Given the description of an element on the screen output the (x, y) to click on. 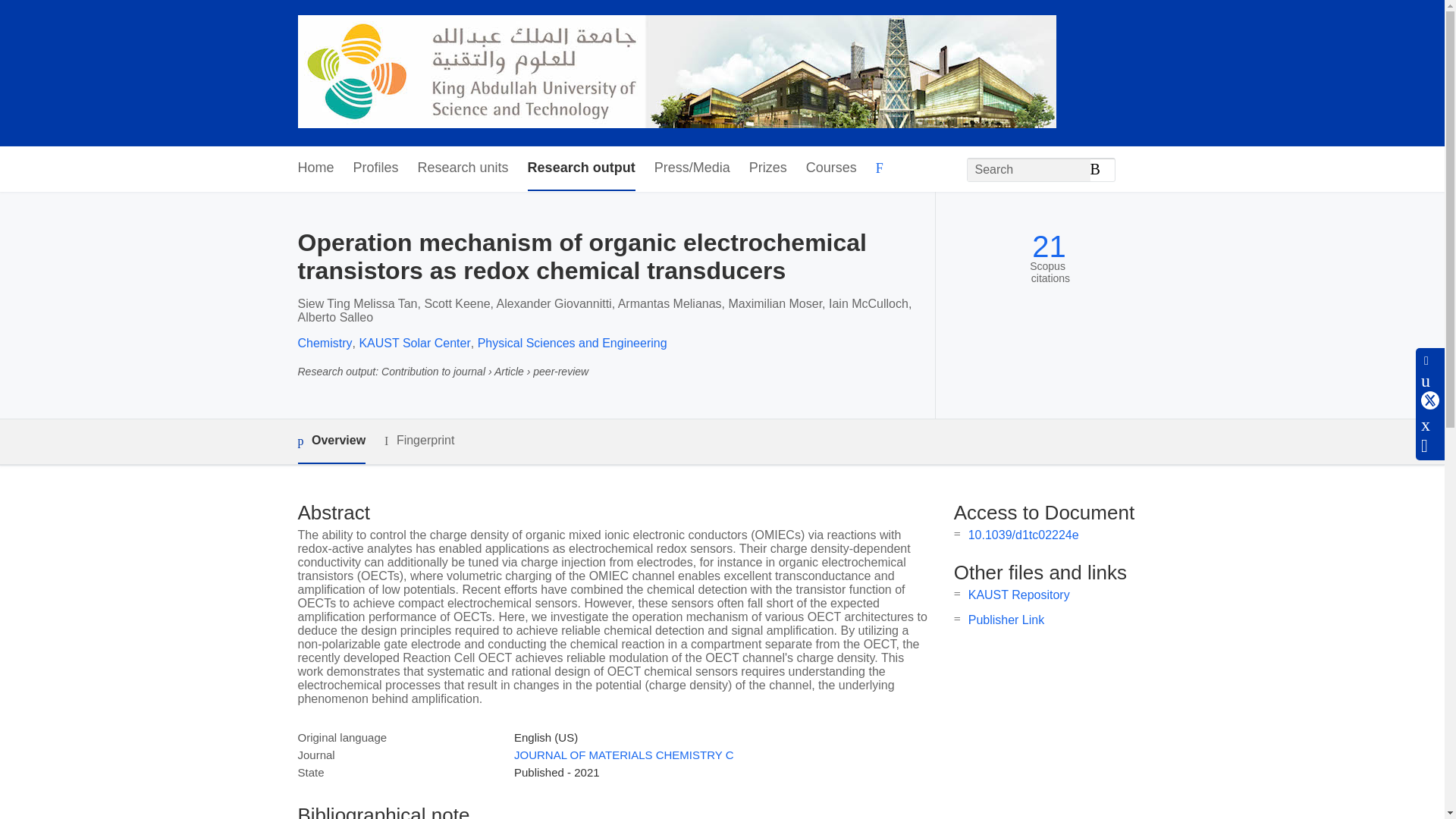
Fingerprint (419, 440)
Research output (580, 168)
21 (1048, 246)
Overview (331, 441)
Courses (831, 168)
Chemistry (324, 342)
Physical Sciences and Engineering (571, 342)
KAUST Solar Center (414, 342)
JOURNAL OF MATERIALS CHEMISTRY C (623, 754)
KAUST PORTAL FOR RESEARCHERS AND STUDENTS Home (676, 73)
Publisher Link (1006, 619)
KAUST Repository (1019, 594)
Research units (462, 168)
Profiles (375, 168)
